Given the description of an element on the screen output the (x, y) to click on. 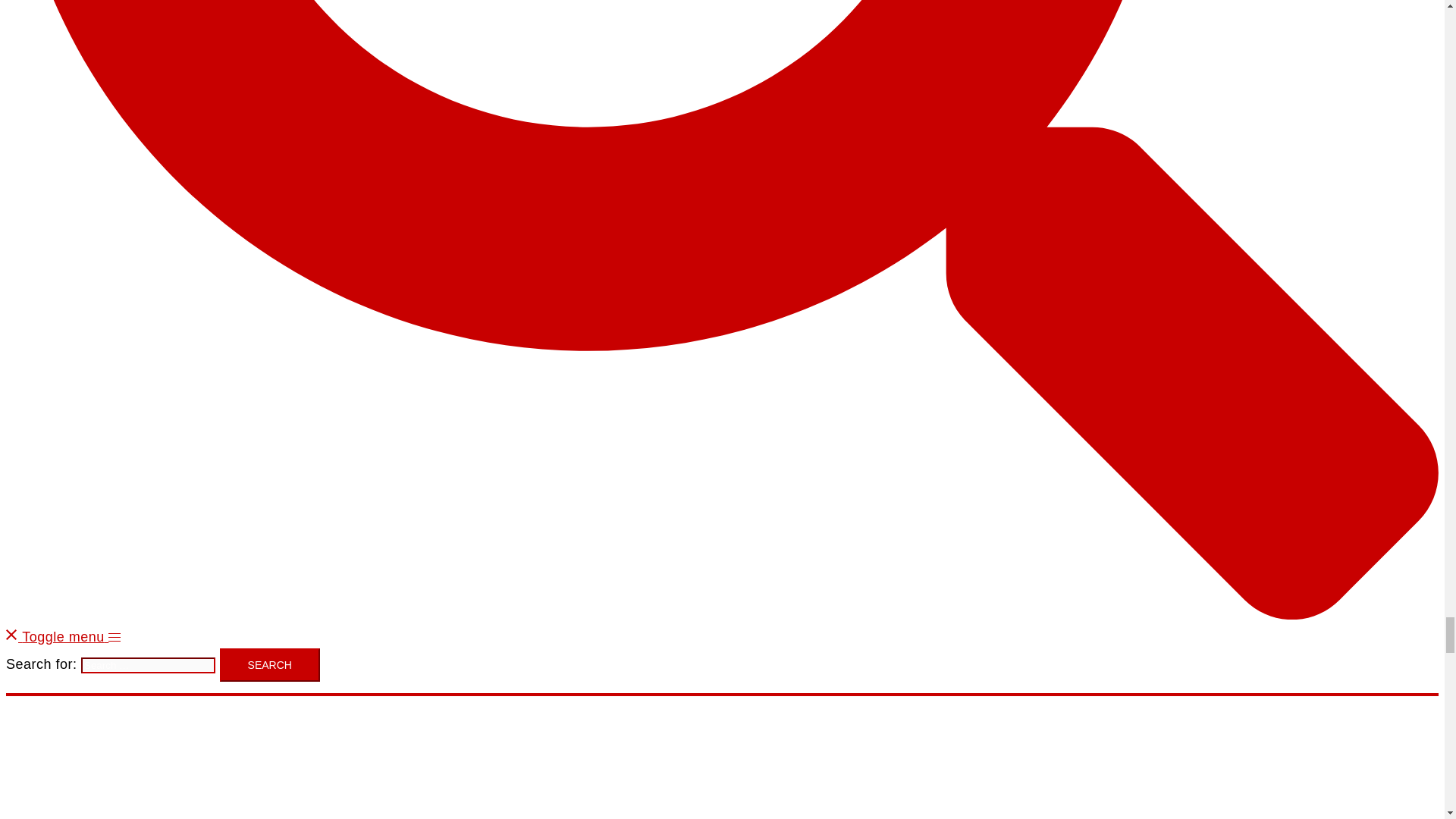
Search (269, 664)
Search (269, 664)
Toggle menu (70, 636)
Search (269, 664)
